Given the description of an element on the screen output the (x, y) to click on. 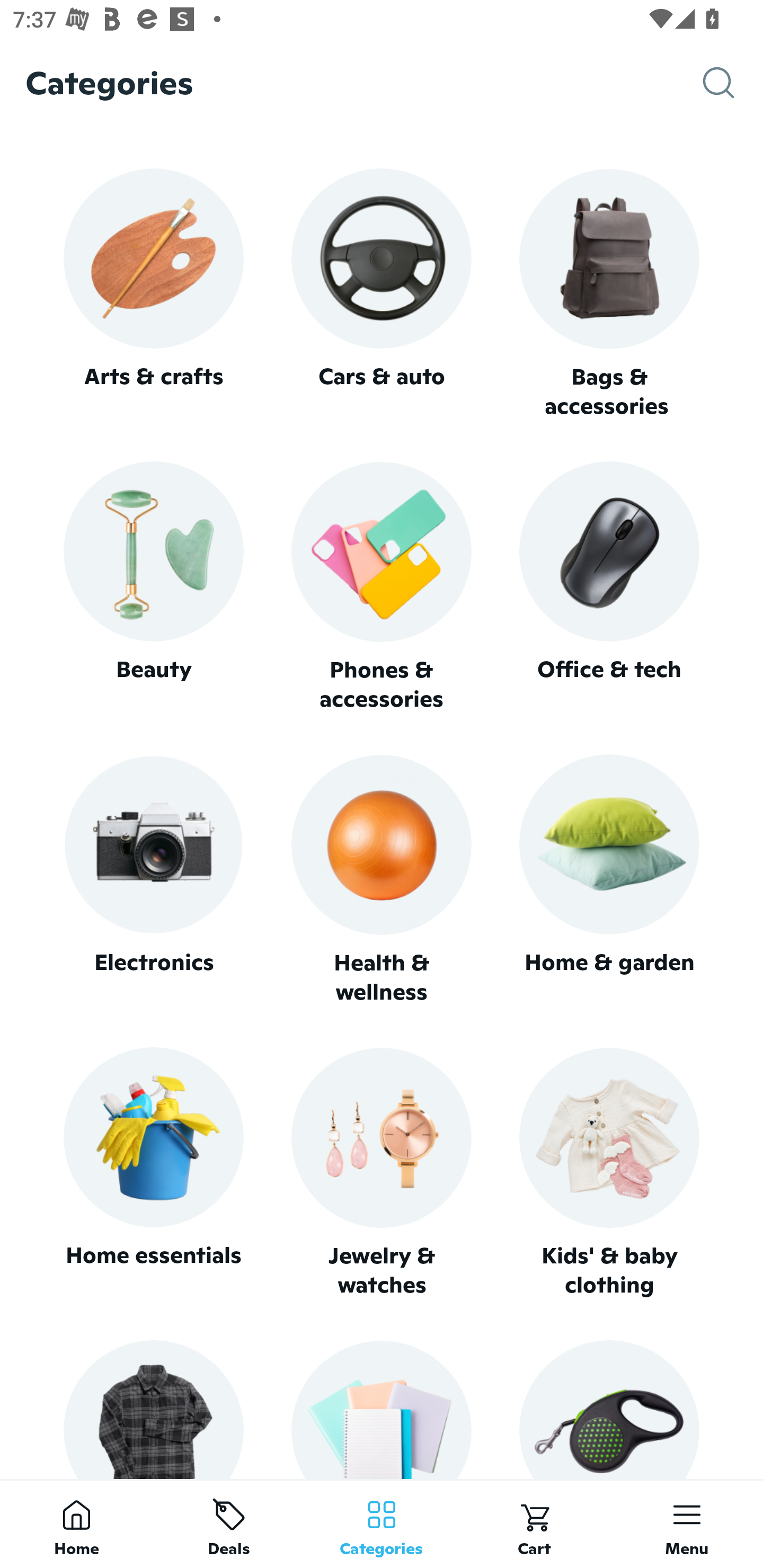
Search (732, 82)
Arts & crafts (153, 293)
Cars & auto (381, 293)
Bags & accessories  (609, 294)
Beauty (153, 586)
Office & tech (609, 586)
Phones & accessories (381, 587)
Electronics (153, 880)
Home & garden (609, 880)
Health & wellness (381, 880)
Home essentials (153, 1172)
Jewelry & watches (381, 1172)
Kids' & baby clothing (609, 1172)
Men's clothing (153, 1409)
Pet supplies (609, 1409)
Office & school supplies (381, 1409)
Home (76, 1523)
Deals (228, 1523)
Categories (381, 1523)
Cart (533, 1523)
Menu (686, 1523)
